Given the description of an element on the screen output the (x, y) to click on. 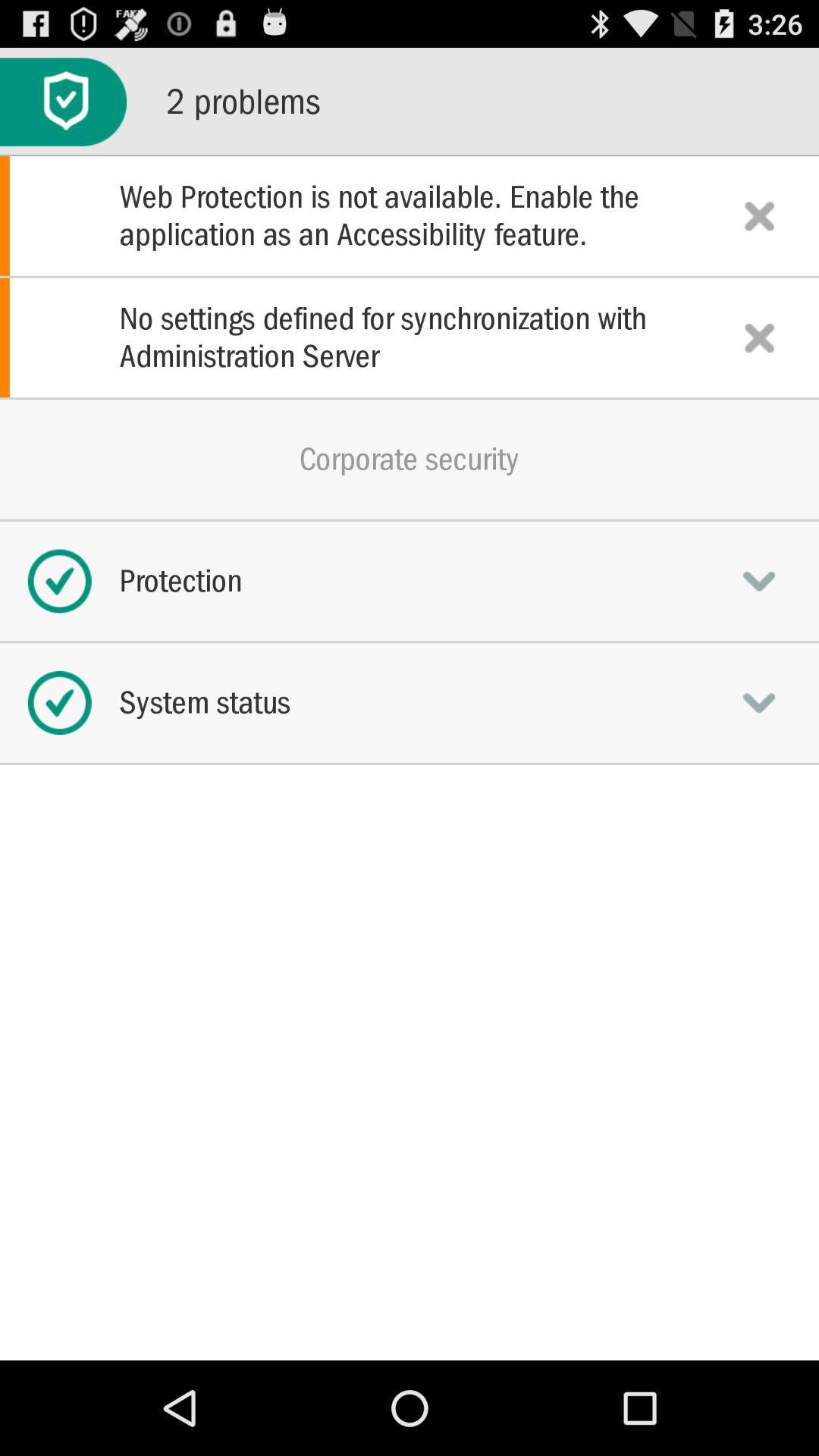
delete problem from list (759, 215)
